Given the description of an element on the screen output the (x, y) to click on. 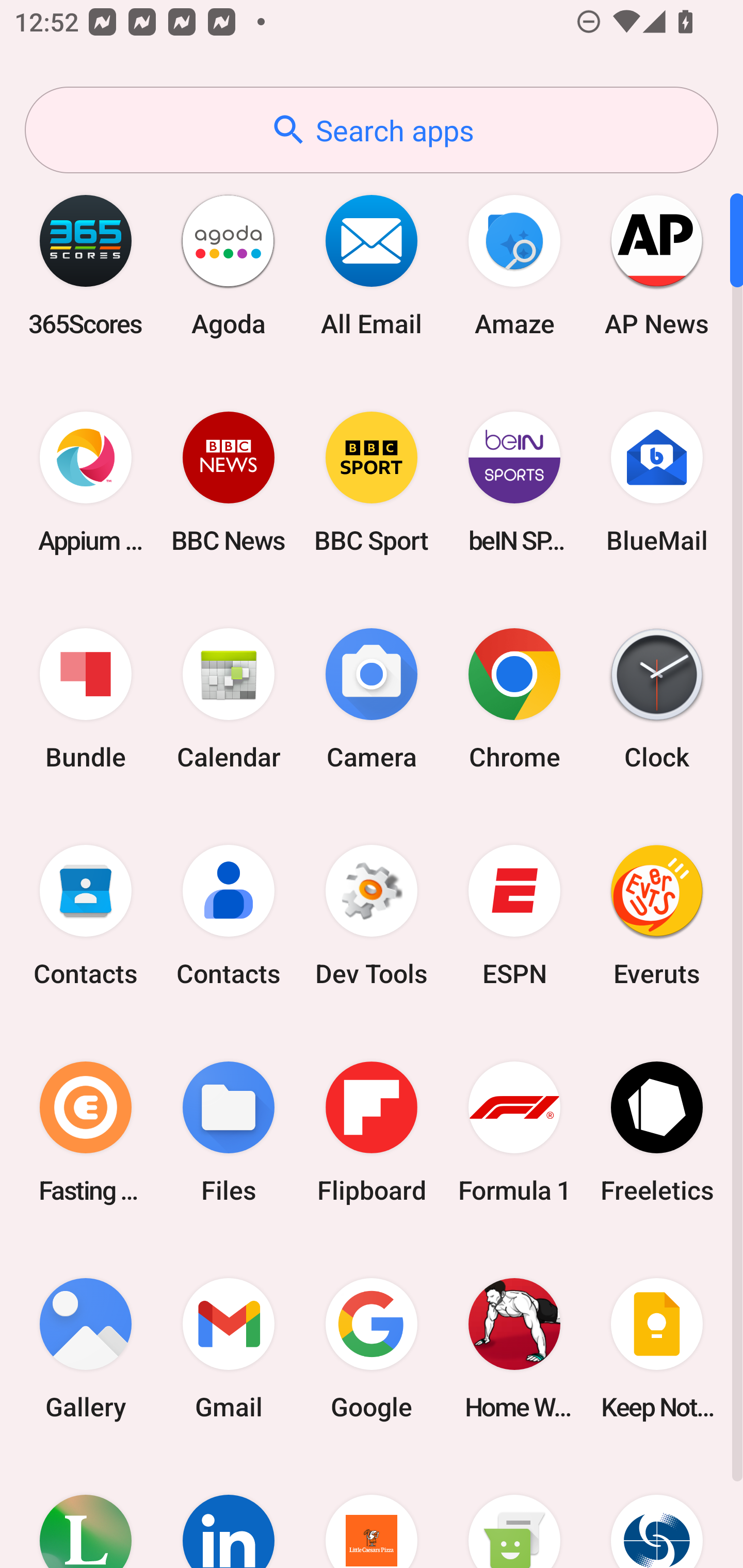
  Search apps (371, 130)
365Scores (85, 264)
Agoda (228, 264)
All Email (371, 264)
Amaze (514, 264)
AP News (656, 264)
Appium Settings (85, 482)
BBC News (228, 482)
BBC Sport (371, 482)
beIN SPORTS (514, 482)
BlueMail (656, 482)
Bundle (85, 699)
Calendar (228, 699)
Camera (371, 699)
Chrome (514, 699)
Clock (656, 699)
Contacts (85, 915)
Contacts (228, 915)
Dev Tools (371, 915)
ESPN (514, 915)
Everuts (656, 915)
Fasting Coach (85, 1131)
Files (228, 1131)
Flipboard (371, 1131)
Formula 1 (514, 1131)
Freeletics (656, 1131)
Gallery (85, 1348)
Gmail (228, 1348)
Google (371, 1348)
Home Workout (514, 1348)
Keep Notes (656, 1348)
